Given the description of an element on the screen output the (x, y) to click on. 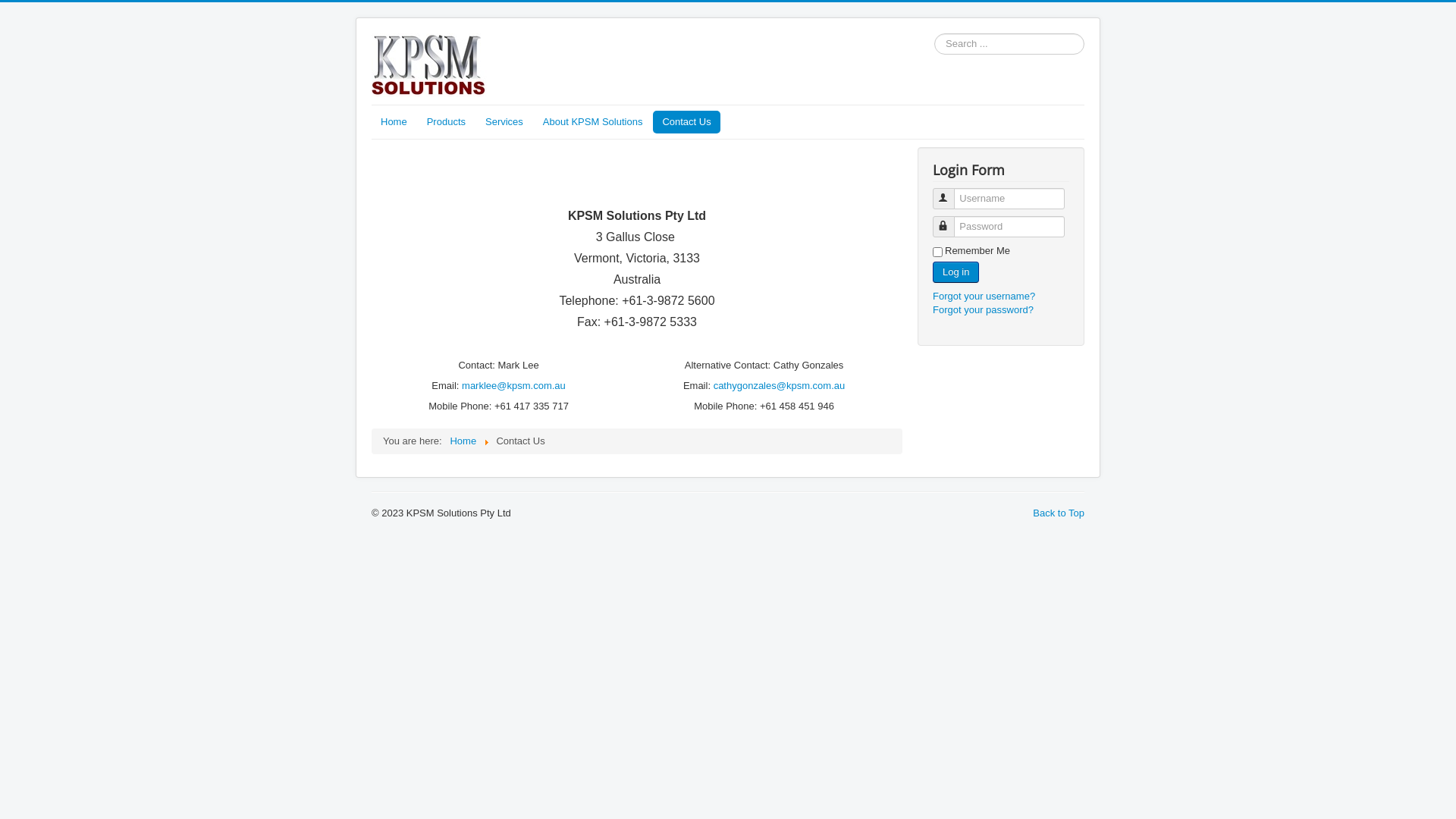
Home Element type: text (462, 440)
Forgot your password? Element type: text (982, 309)
Log in Element type: text (955, 271)
marklee@kpsm.com.au Element type: text (513, 385)
Services Element type: text (504, 121)
Contact Us Element type: text (685, 121)
Back to Top Element type: text (1058, 512)
cathygonzales@kpsm.com.au Element type: text (779, 385)
Home Element type: text (393, 121)
About KPSM Solutions Element type: text (592, 121)
Products Element type: text (445, 121)
Forgot your username? Element type: text (983, 295)
